Given the description of an element on the screen output the (x, y) to click on. 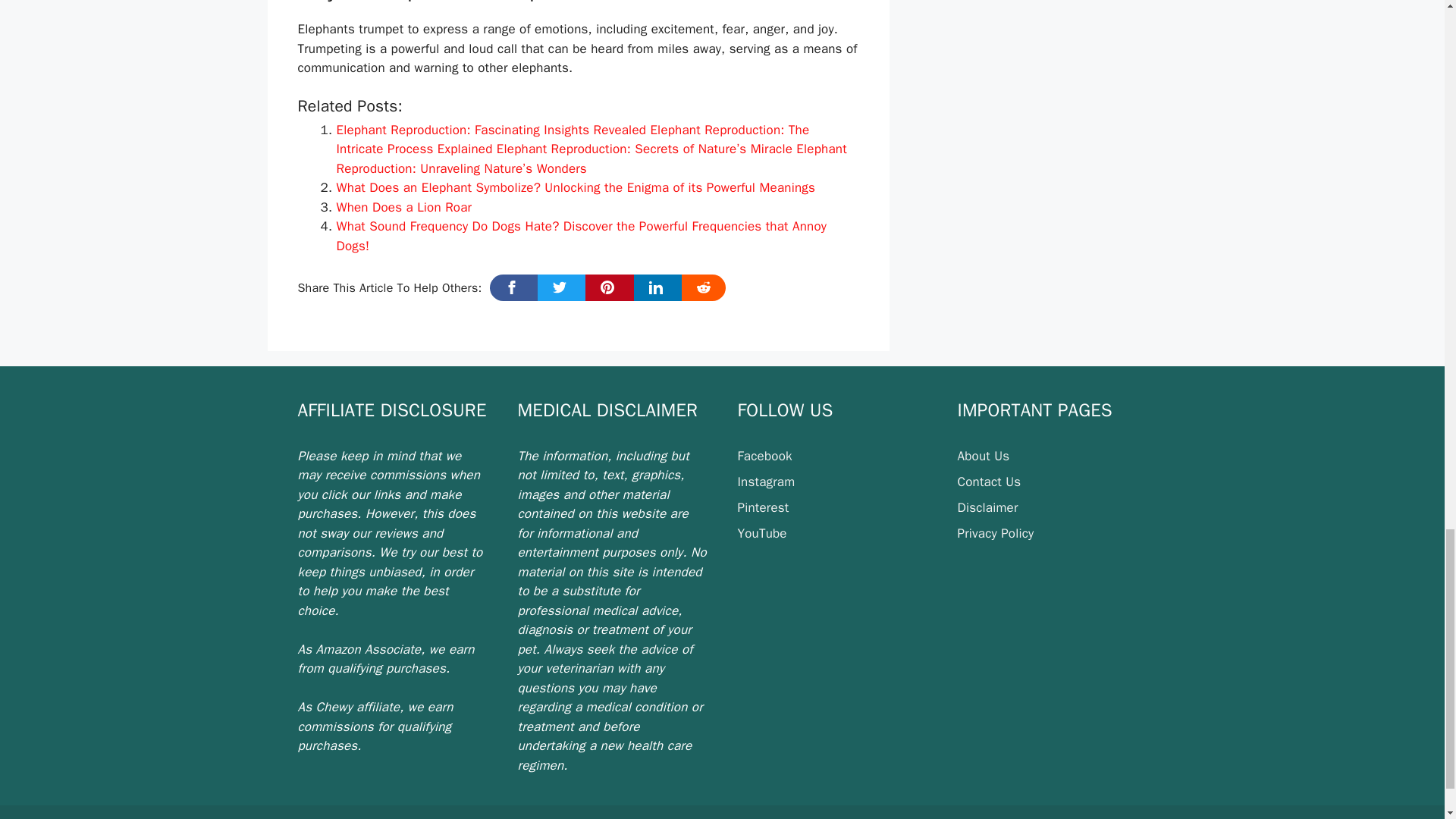
When Does a Lion Roar (403, 207)
When Does a Lion Roar (403, 207)
